Given the description of an element on the screen output the (x, y) to click on. 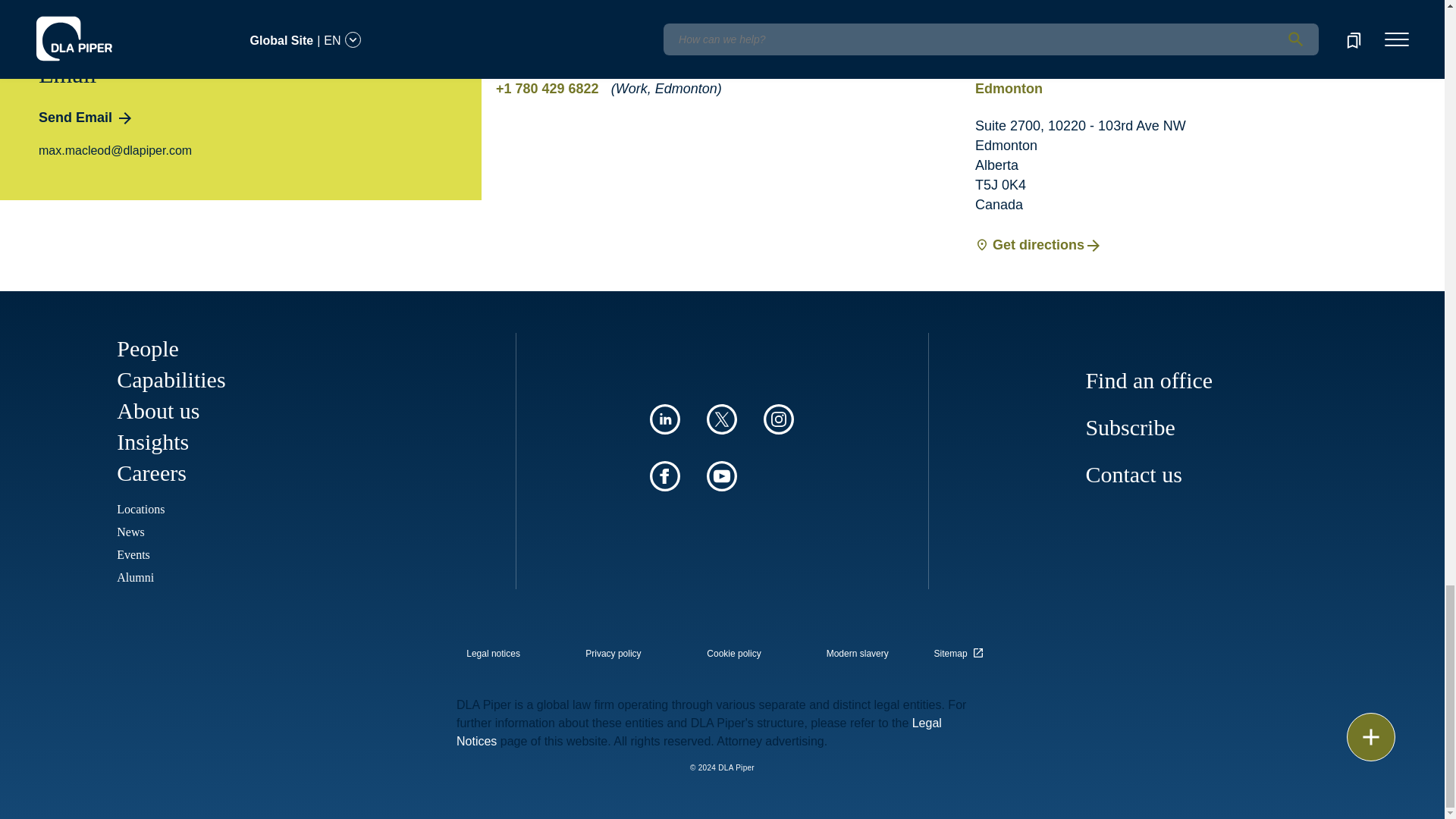
internal (734, 653)
internal (857, 653)
external (960, 649)
internal (493, 653)
internal (612, 653)
